Given the description of an element on the screen output the (x, y) to click on. 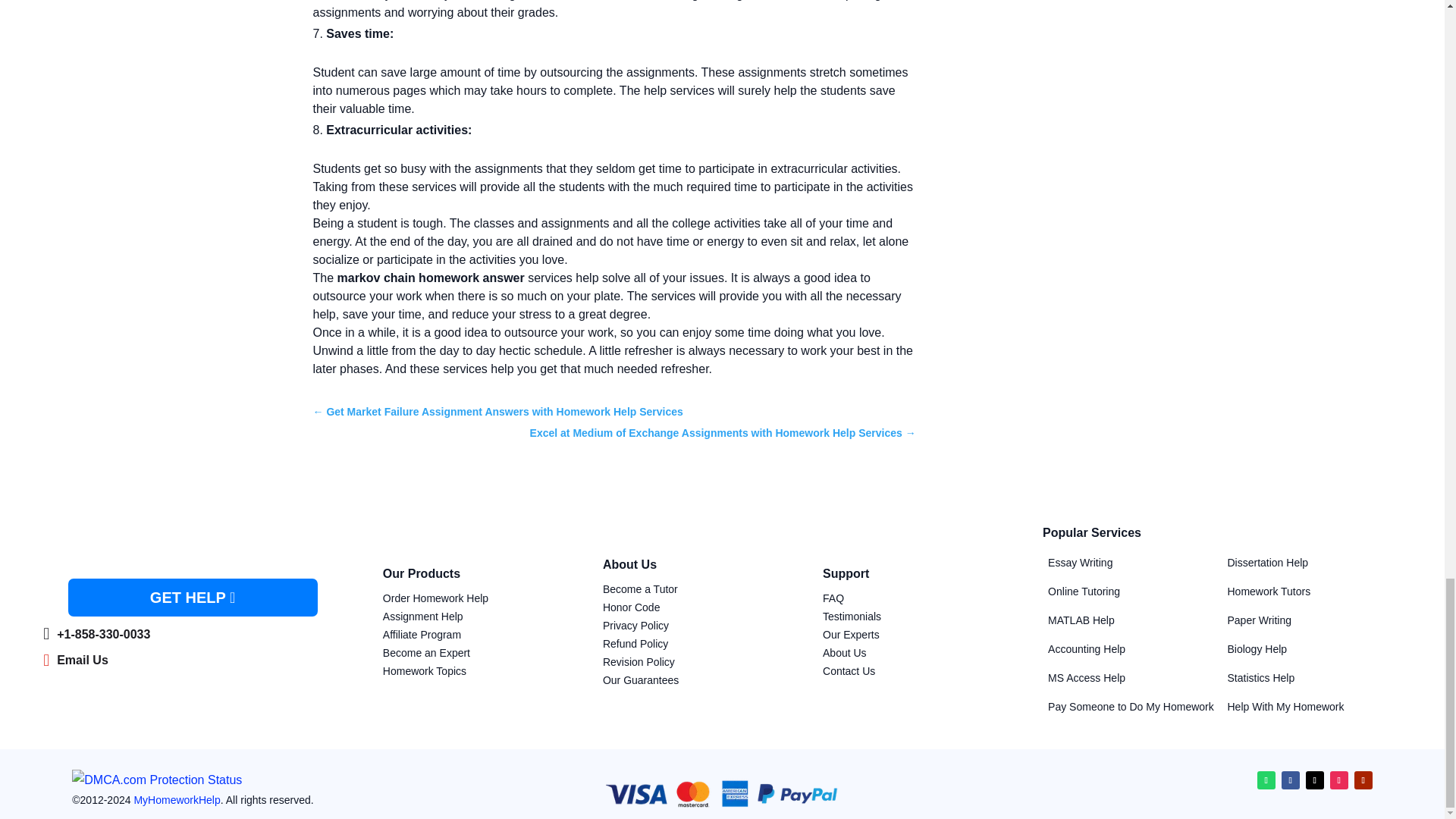
Follow on Facebook (1290, 780)
Follow on X (1314, 780)
DMCA.com Protection Status (156, 779)
Follow on WhatsApp (1266, 780)
FAQ (833, 598)
Follow on Youtube (1363, 780)
Follow on Instagram (1339, 780)
